Given the description of an element on the screen output the (x, y) to click on. 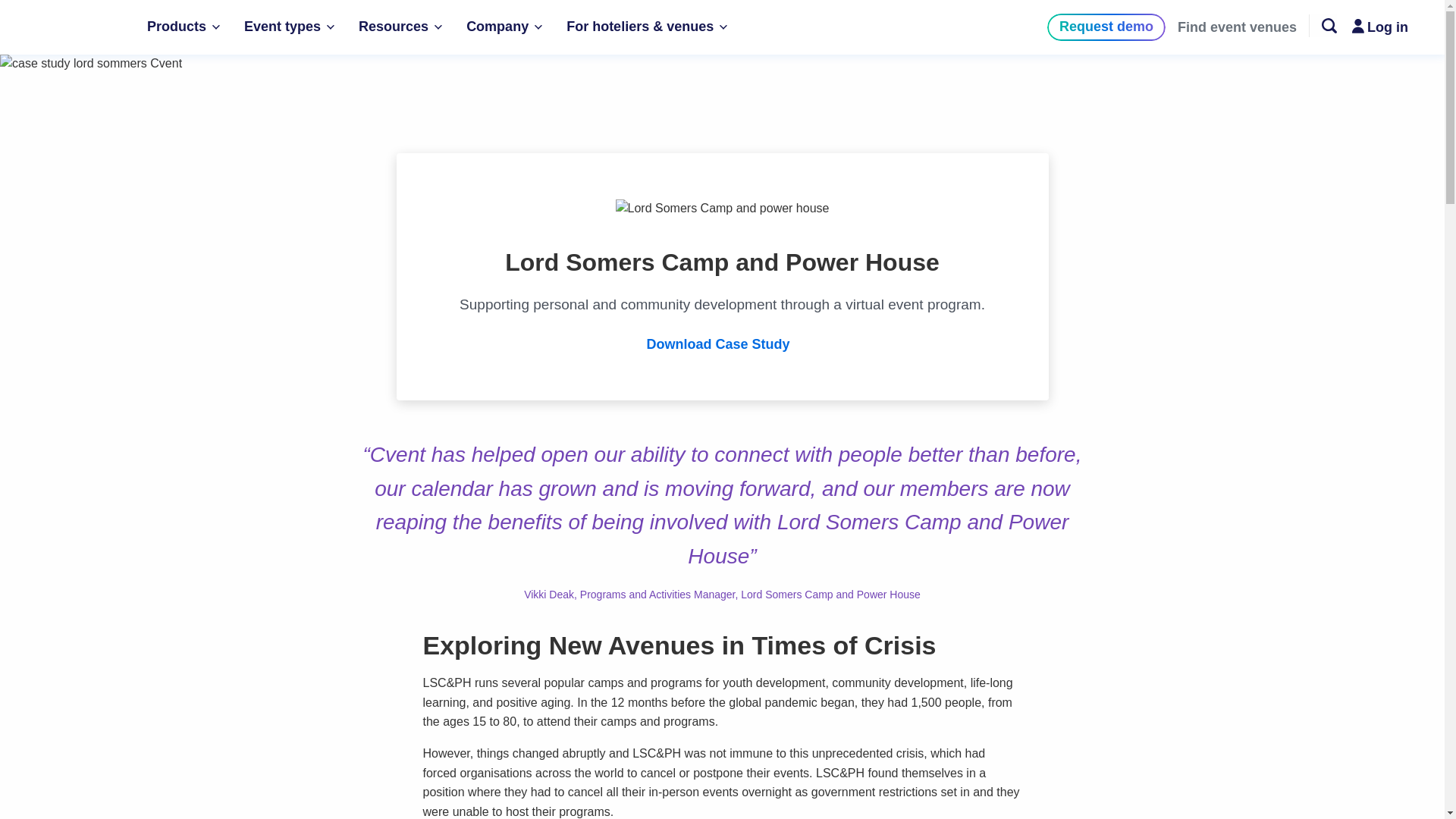
Products (183, 27)
Event types (288, 27)
